Given the description of an element on the screen output the (x, y) to click on. 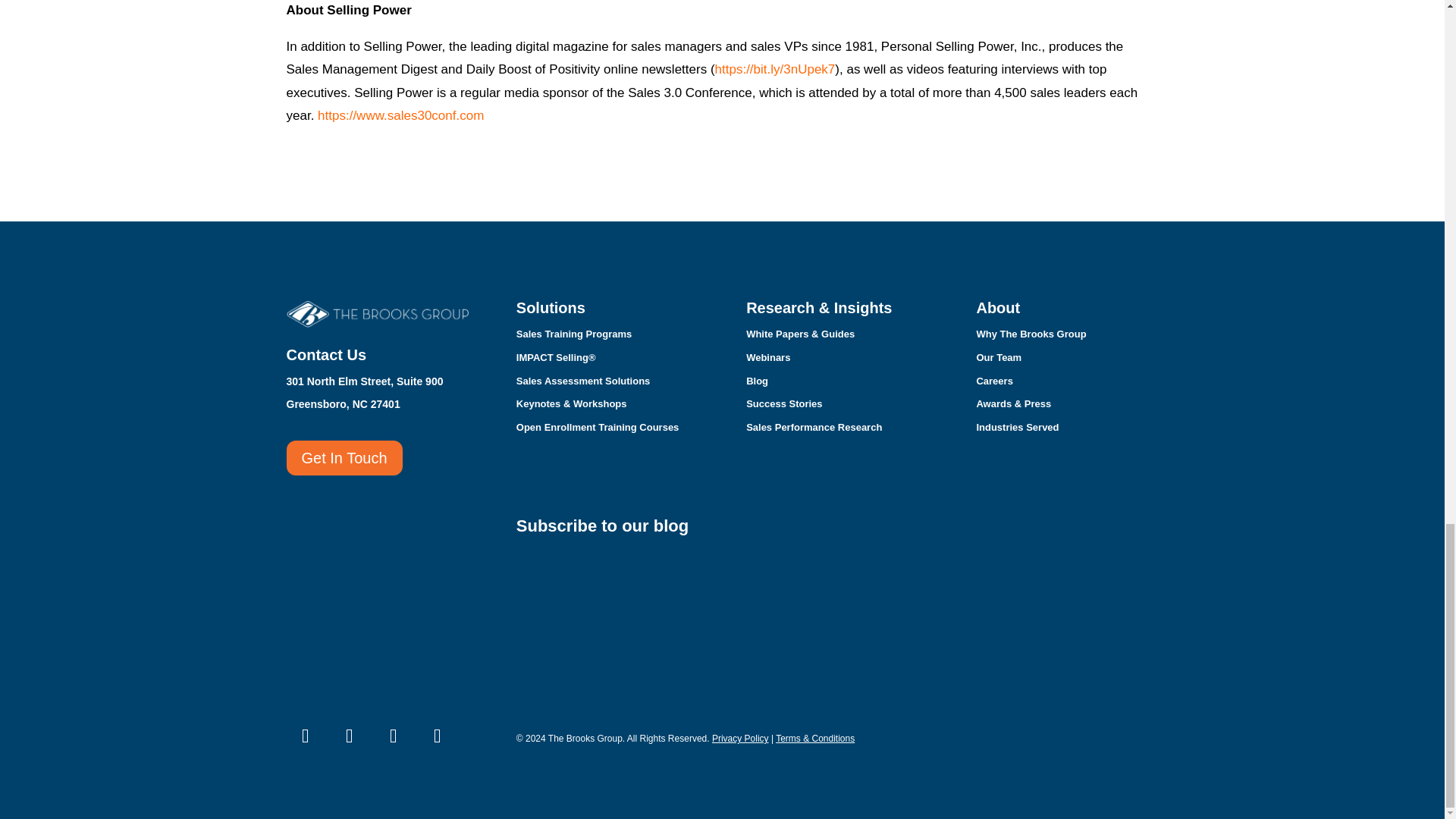
Form 0 (837, 619)
Follow on X (393, 735)
Follow on Youtube (349, 735)
Follow on LinkedIn (305, 735)
Follow on Facebook (438, 735)
